Given the description of an element on the screen output the (x, y) to click on. 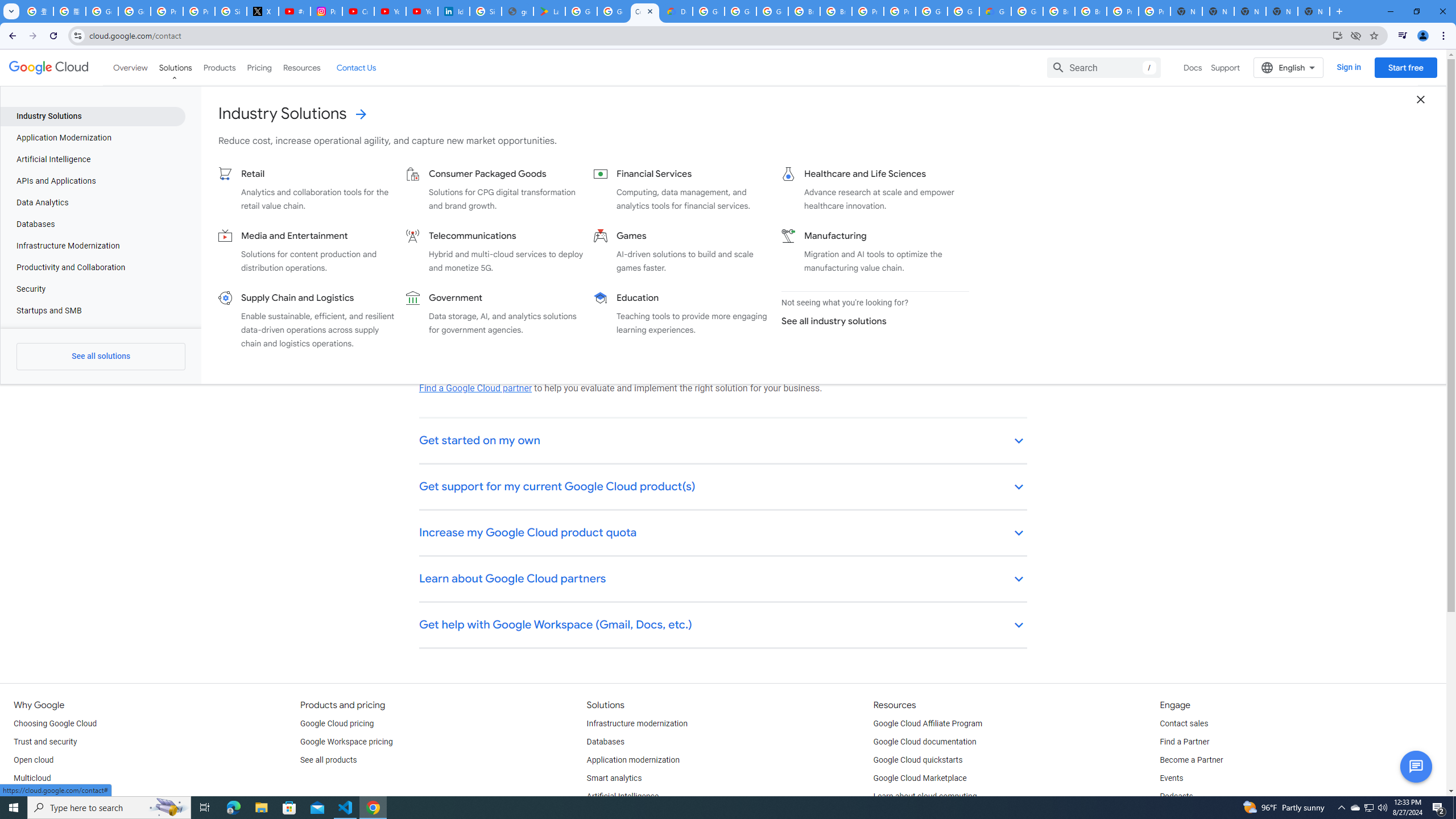
Application modernization (632, 760)
Multicloud (31, 778)
Open cloud (33, 760)
Application Modernization (92, 138)
Products (218, 67)
Pricing (259, 67)
Become a Partner (1190, 760)
